Given the description of an element on the screen output the (x, y) to click on. 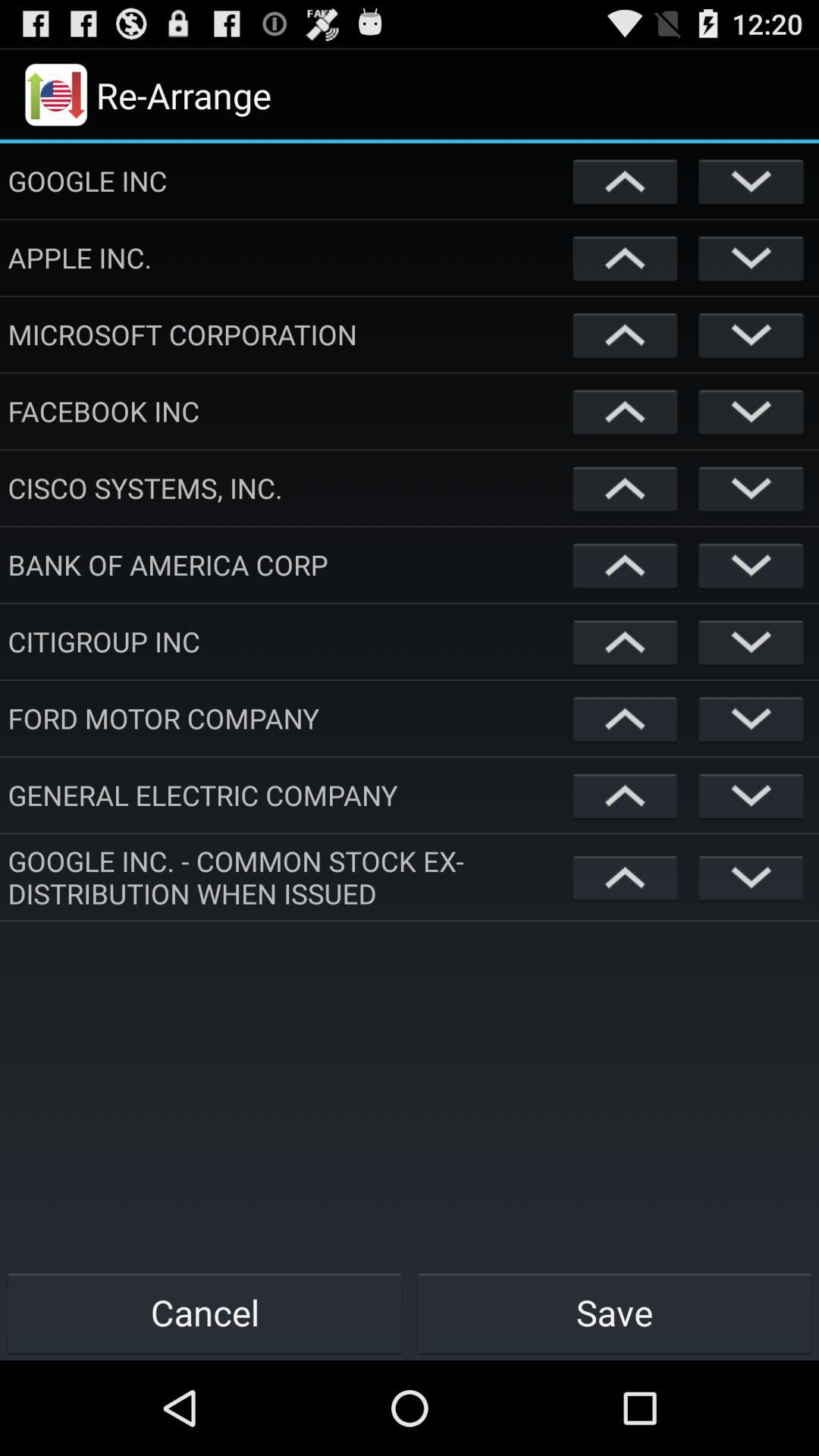
turn on button at the bottom right corner (614, 1312)
